Given the description of an element on the screen output the (x, y) to click on. 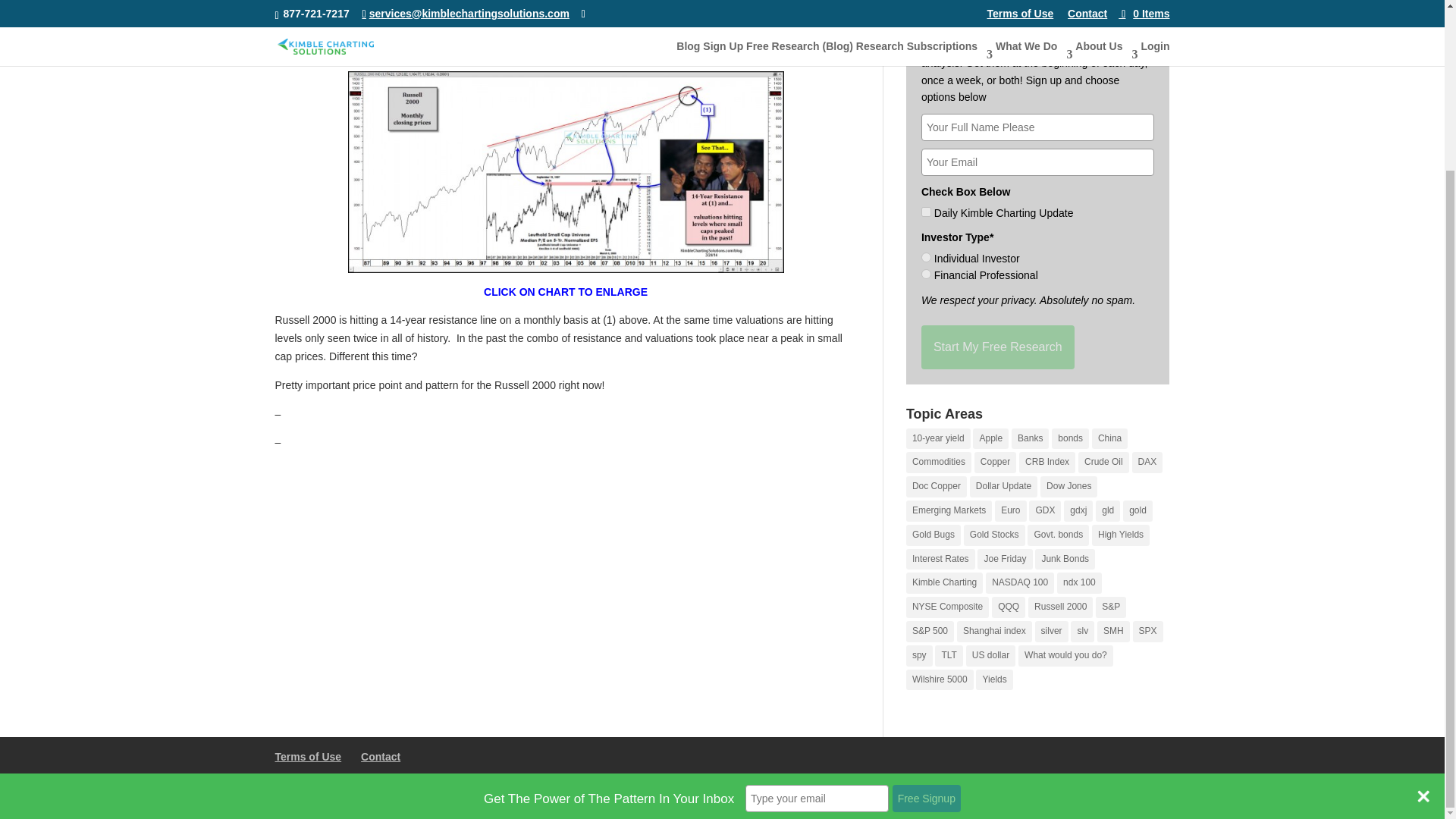
russell14yearresistancevaluationshighmar24 (565, 171)
Individual Investor (926, 257)
Financial Professional (926, 274)
Daily Kimble Charting Update (926, 212)
Posts by Chris Kimble (318, 4)
16Wells (657, 797)
